Given the description of an element on the screen output the (x, y) to click on. 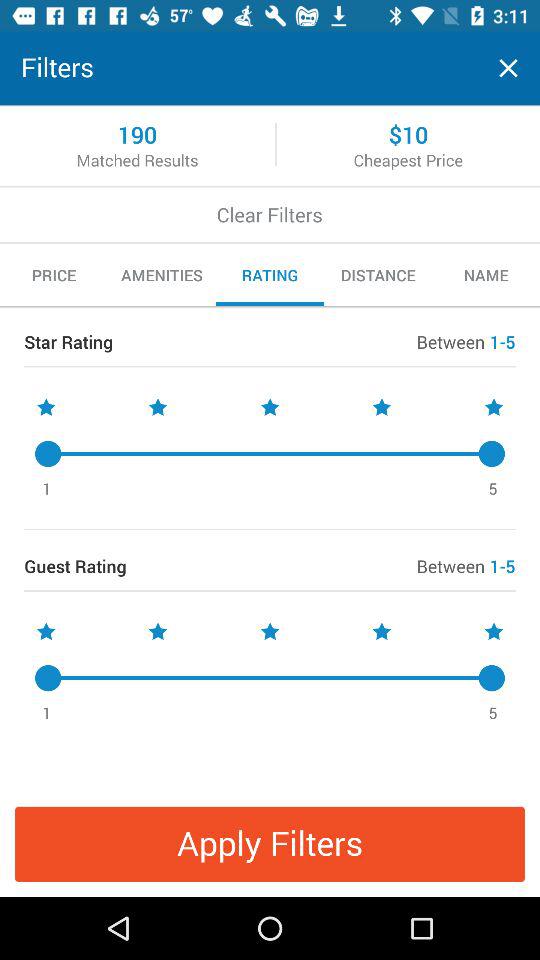
jump until the name item (486, 275)
